Given the description of an element on the screen output the (x, y) to click on. 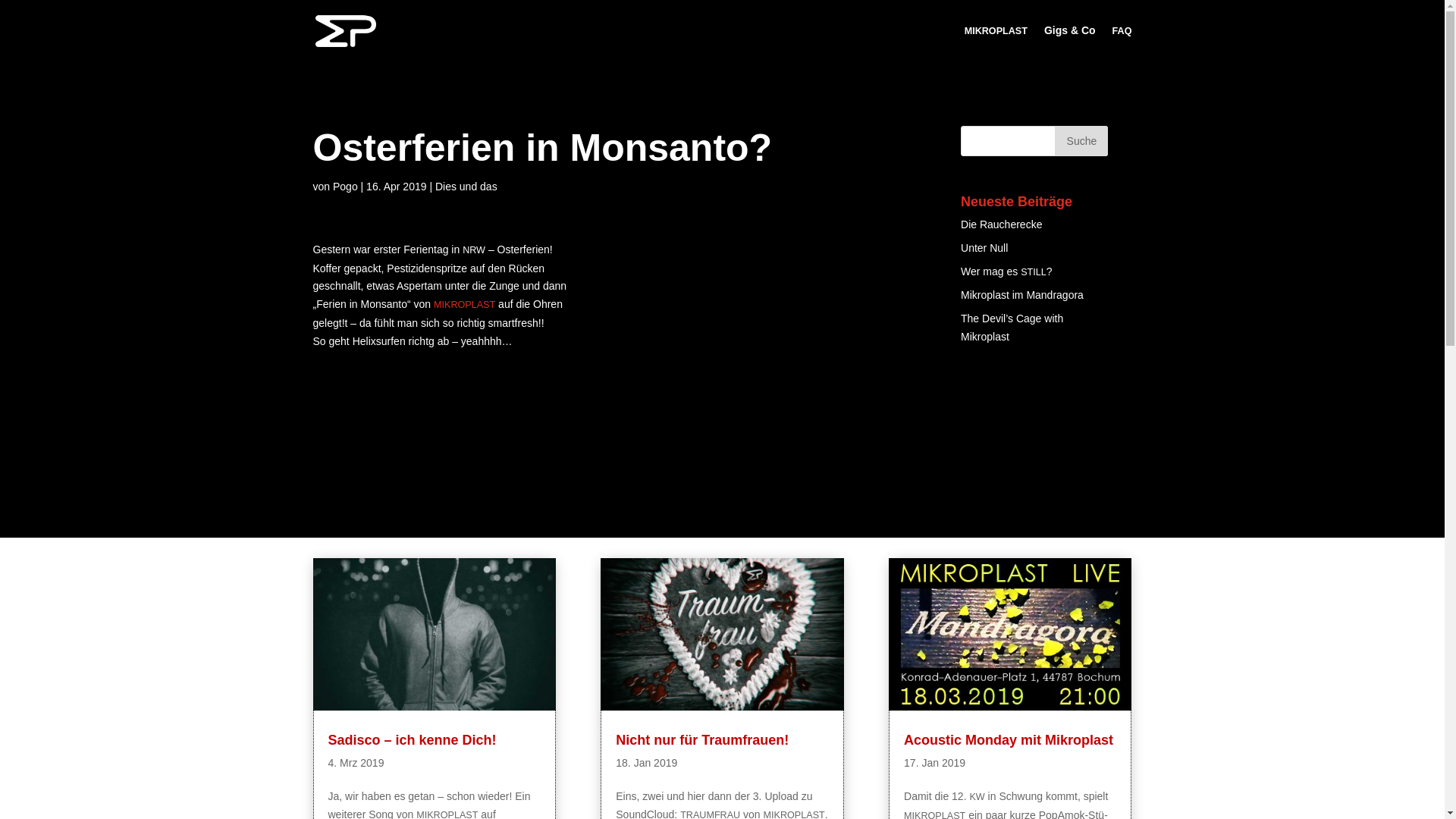
Wer mag es STILL? Element type: text (1006, 271)
Unter Null Element type: text (983, 247)
Pogo Element type: text (344, 186)
Gigs & Co Element type: text (1069, 42)
Suche Element type: text (1080, 140)
FAQ Element type: text (1122, 43)
Dies und das Element type: text (466, 186)
